Given the description of an element on the screen output the (x, y) to click on. 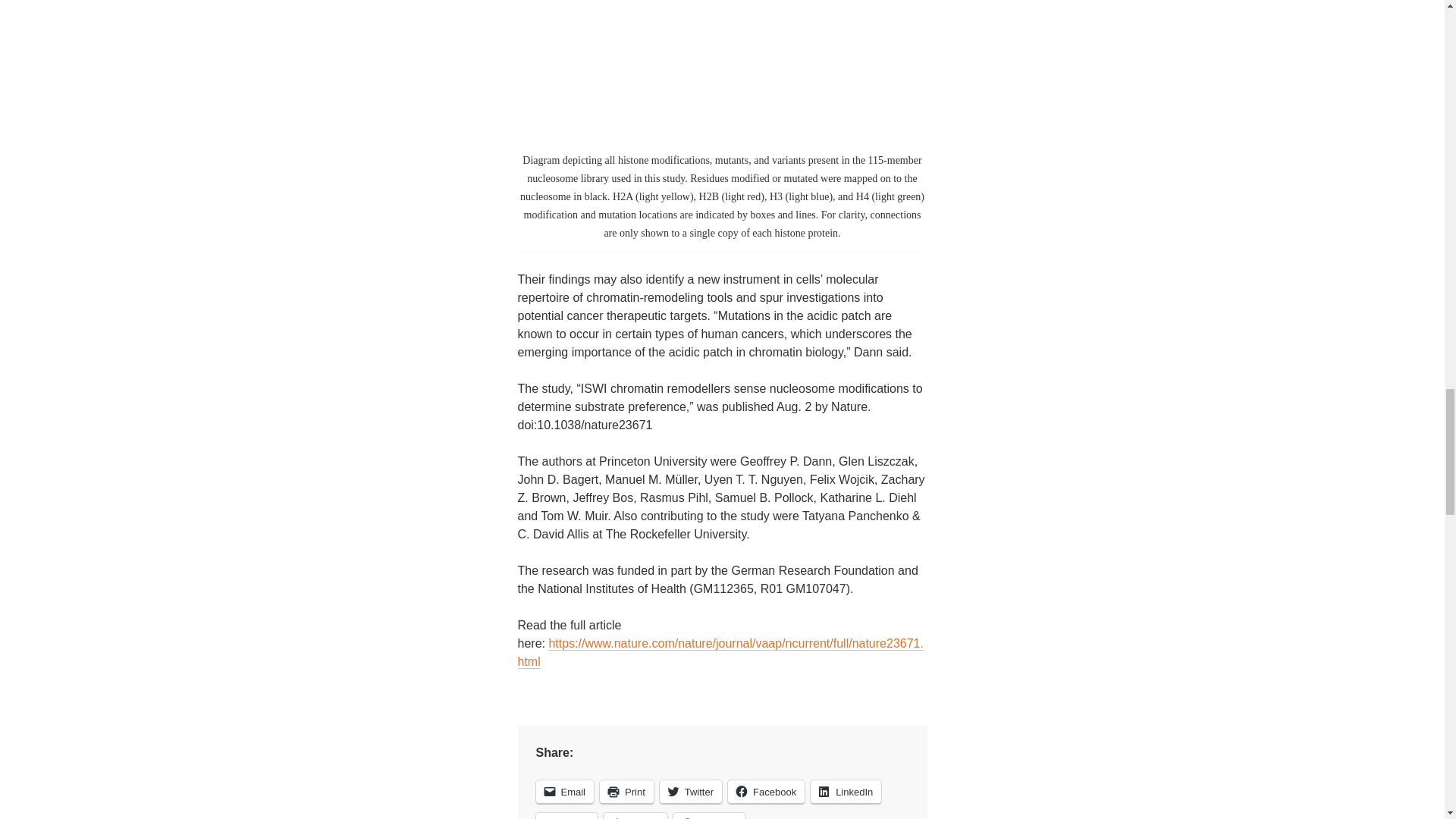
Pinterest (708, 816)
Click to share on Tumblr (635, 816)
Click to share on LinkedIn (845, 791)
Click to email a link to a friend (564, 791)
Reddit (565, 816)
Click to share on Facebook (766, 791)
Email (564, 791)
Print (626, 791)
Click to share on Pinterest (708, 816)
Click to print (626, 791)
